Given the description of an element on the screen output the (x, y) to click on. 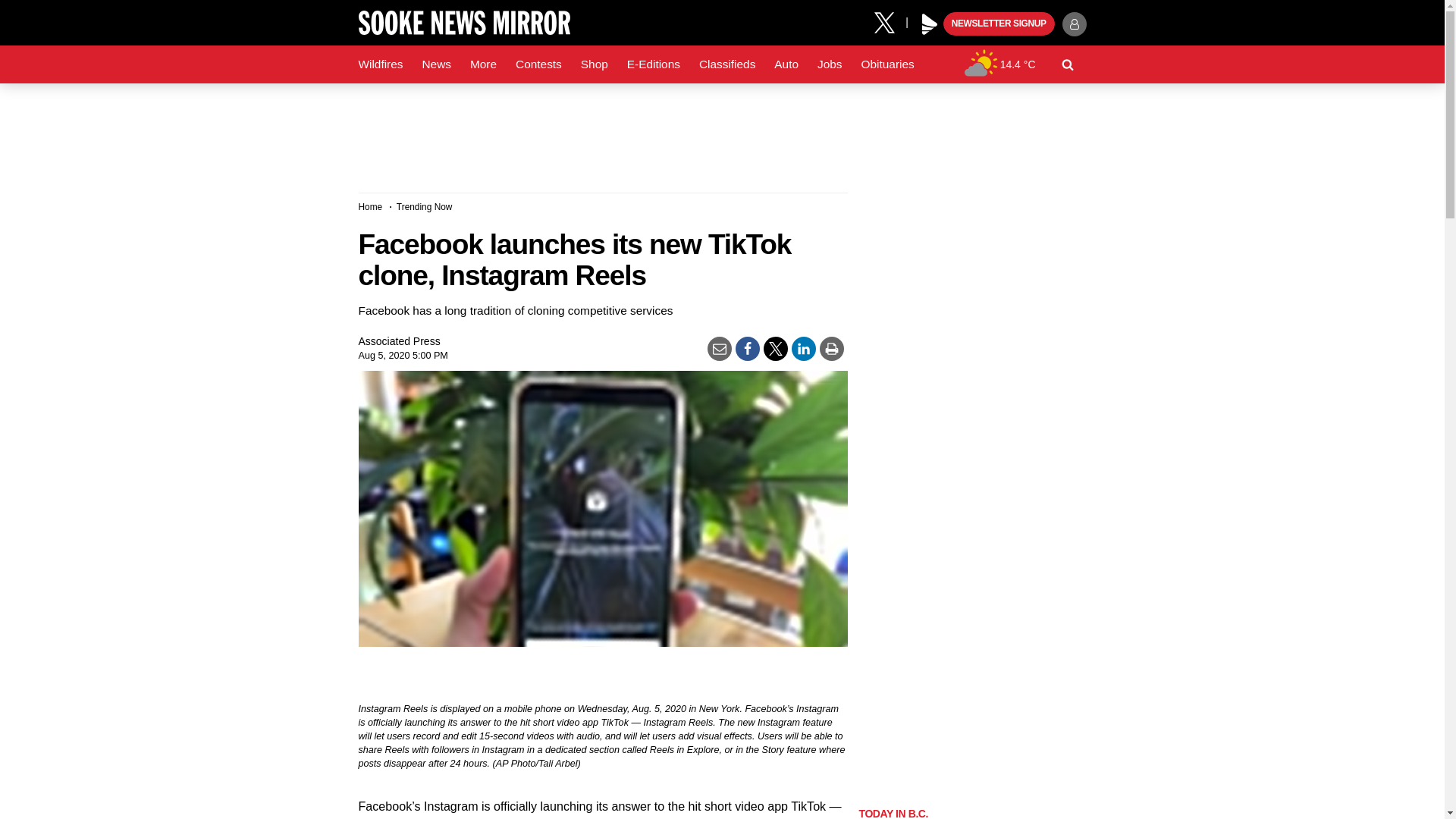
Play (929, 24)
Black Press Media (929, 24)
NEWSLETTER SIGNUP (998, 24)
X (889, 21)
Wildfires (380, 64)
News (435, 64)
